Given the description of an element on the screen output the (x, y) to click on. 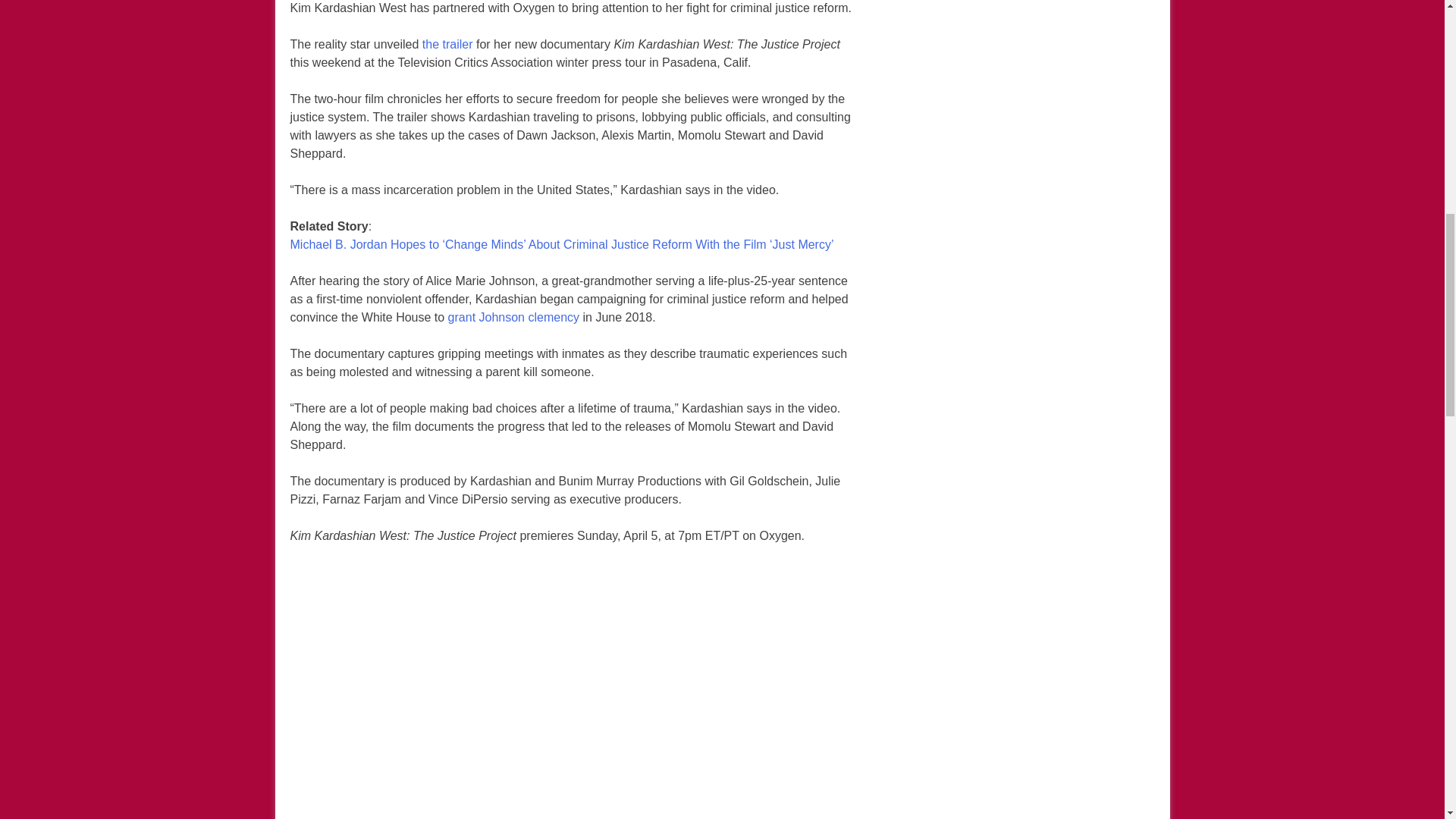
the trailer (447, 45)
grant Johnson clemency (513, 317)
